Given the description of an element on the screen output the (x, y) to click on. 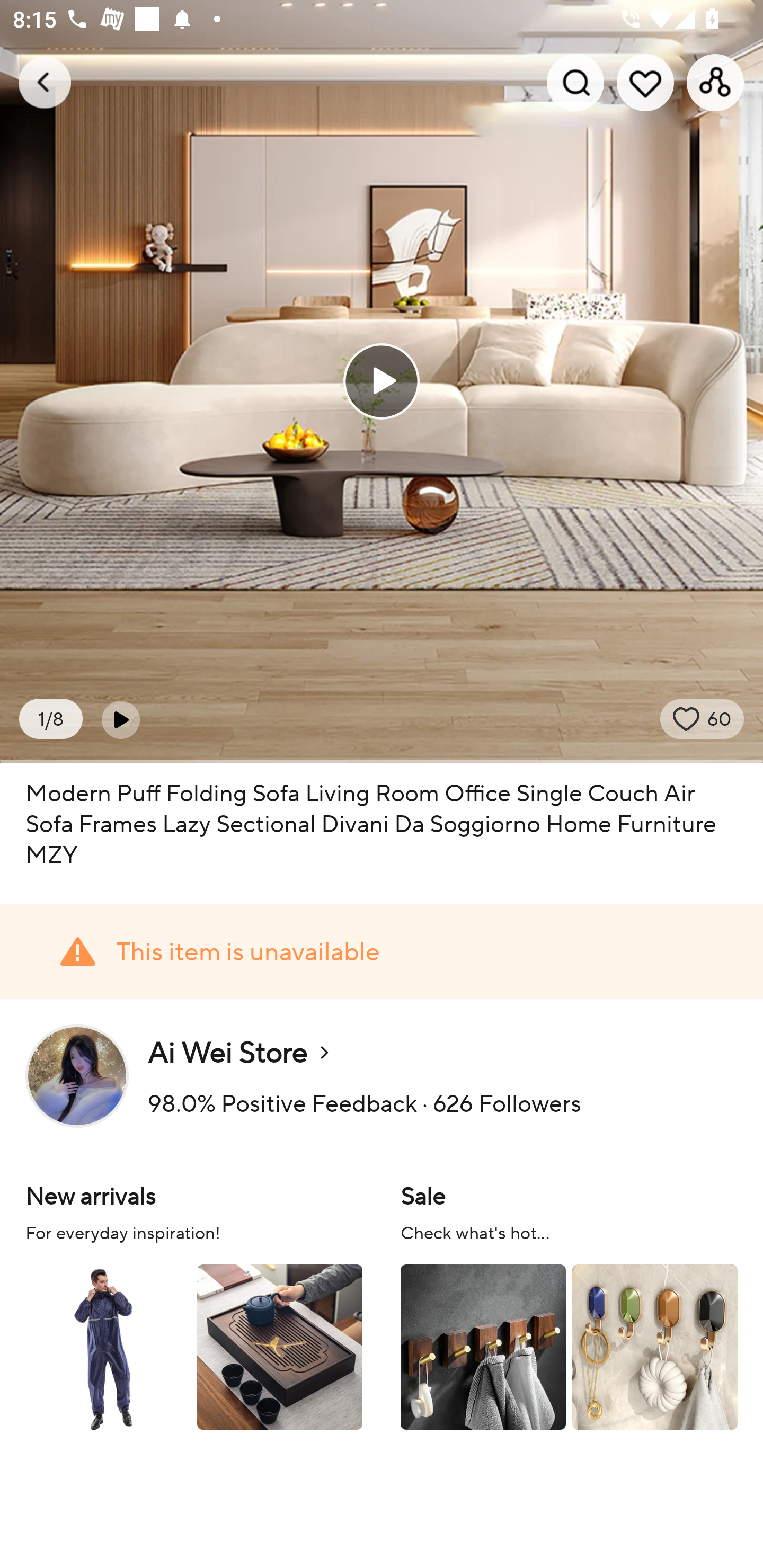
0.0 (381, 381)
Navigate up (44, 82)
wish state 60 (701, 718)
 (120, 719)
New arrivals For everyday inspiration!  (193, 1304)
Sale Check what's hot... (568, 1304)
